Given the description of an element on the screen output the (x, y) to click on. 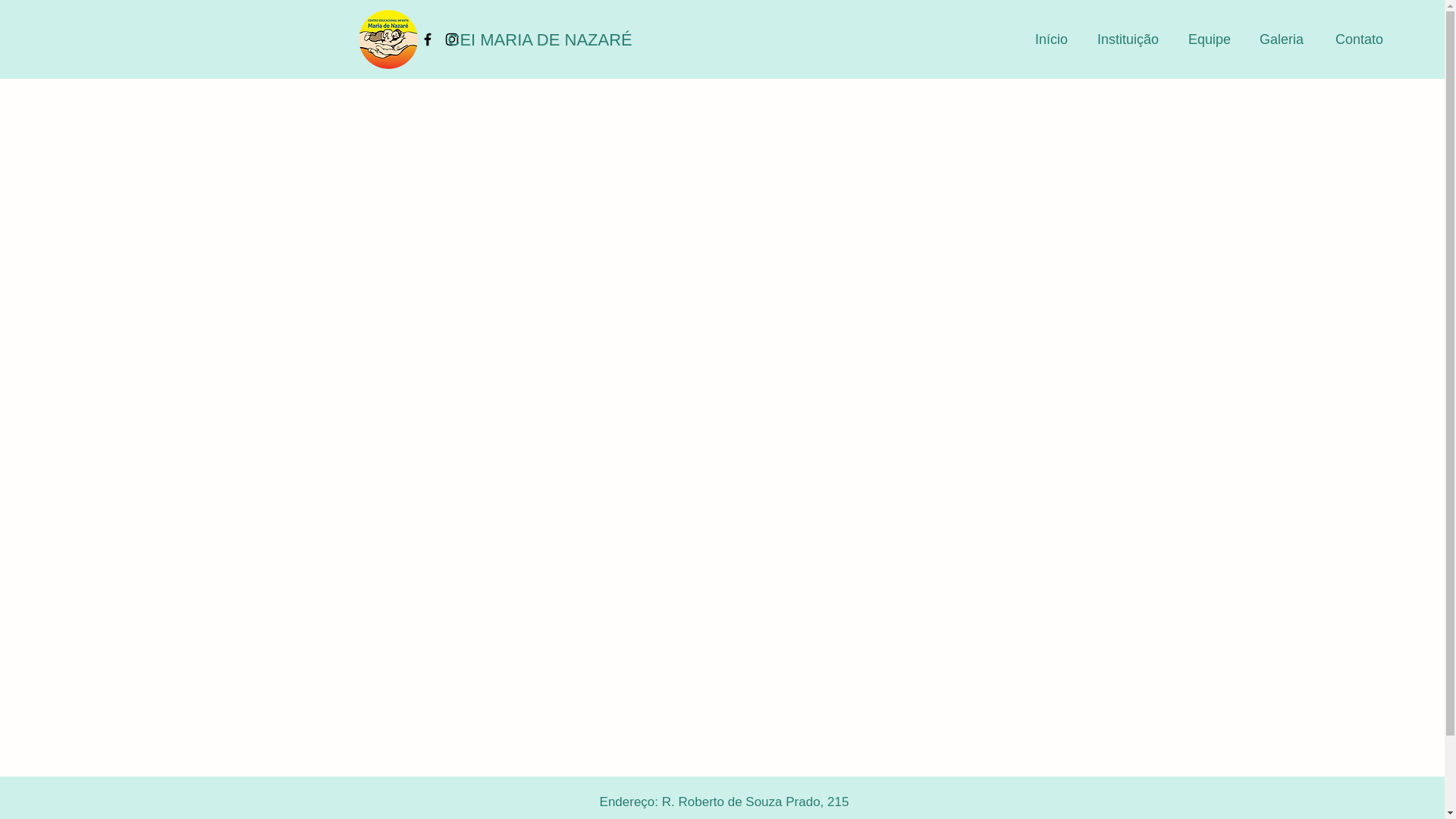
Equipe (1202, 38)
Contato (1350, 38)
Galeria (1275, 38)
